Given the description of an element on the screen output the (x, y) to click on. 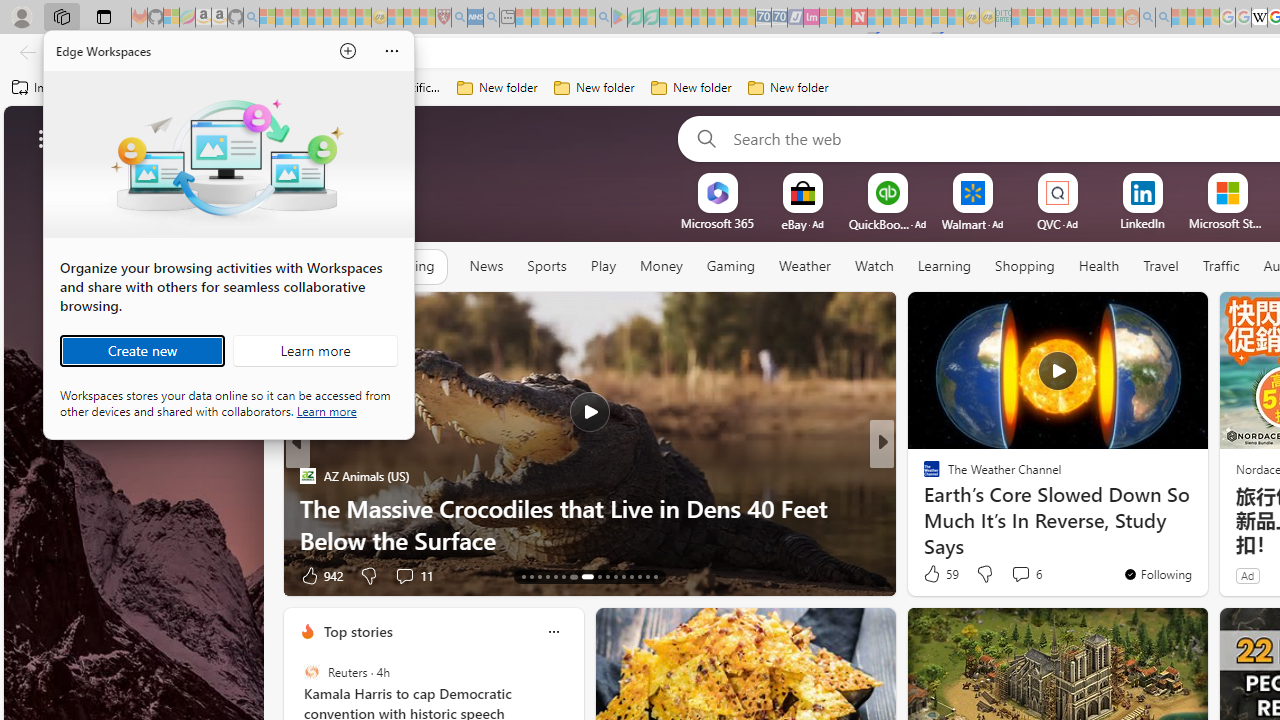
New folder (788, 88)
Gaming (730, 265)
Play (602, 265)
AutomationID: tab-25 (631, 576)
24 Like (934, 574)
Expert Portfolios - Sleeping (1067, 17)
Learning (944, 265)
